Given the description of an element on the screen output the (x, y) to click on. 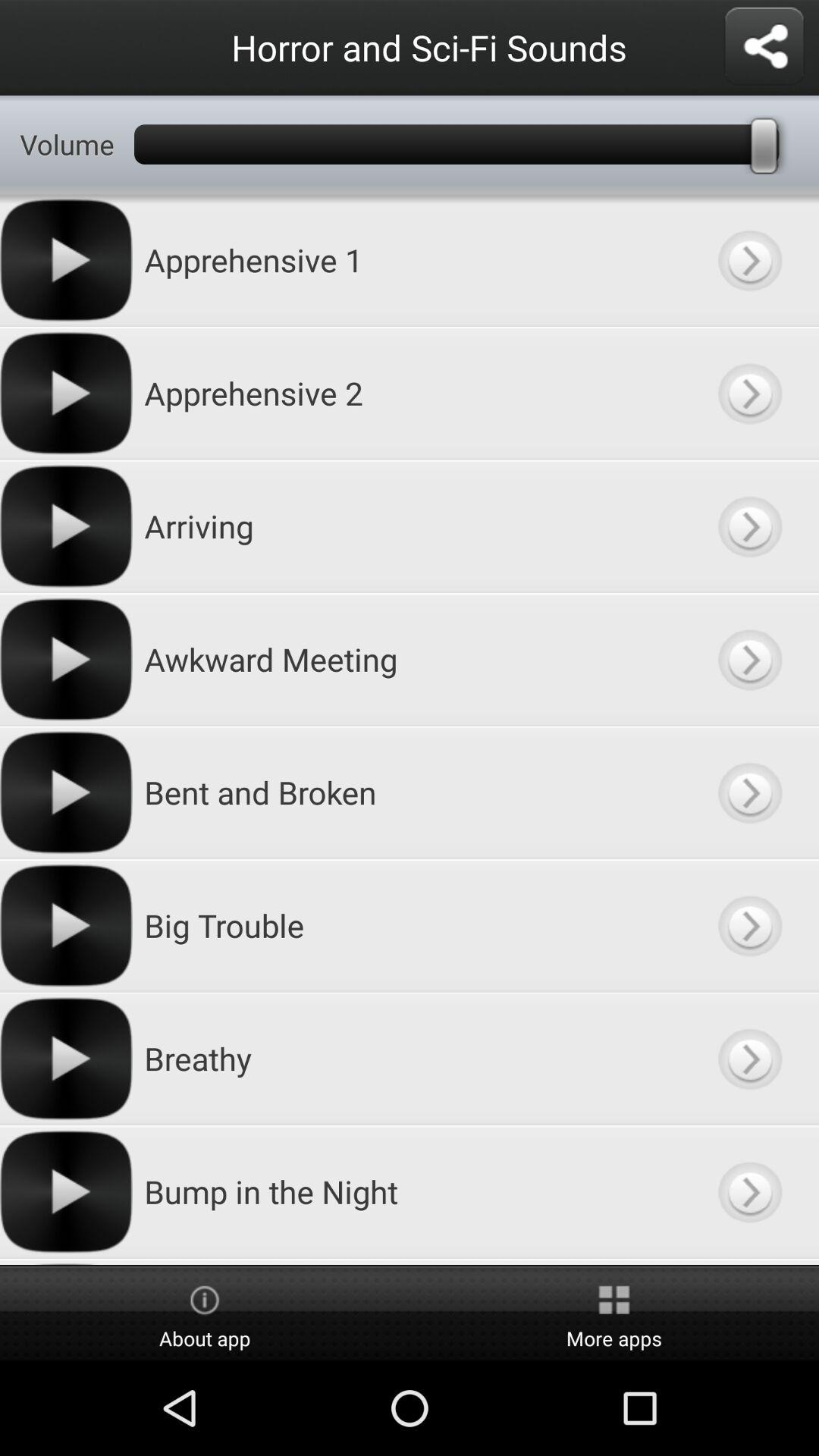
play soundbite (749, 393)
